Given the description of an element on the screen output the (x, y) to click on. 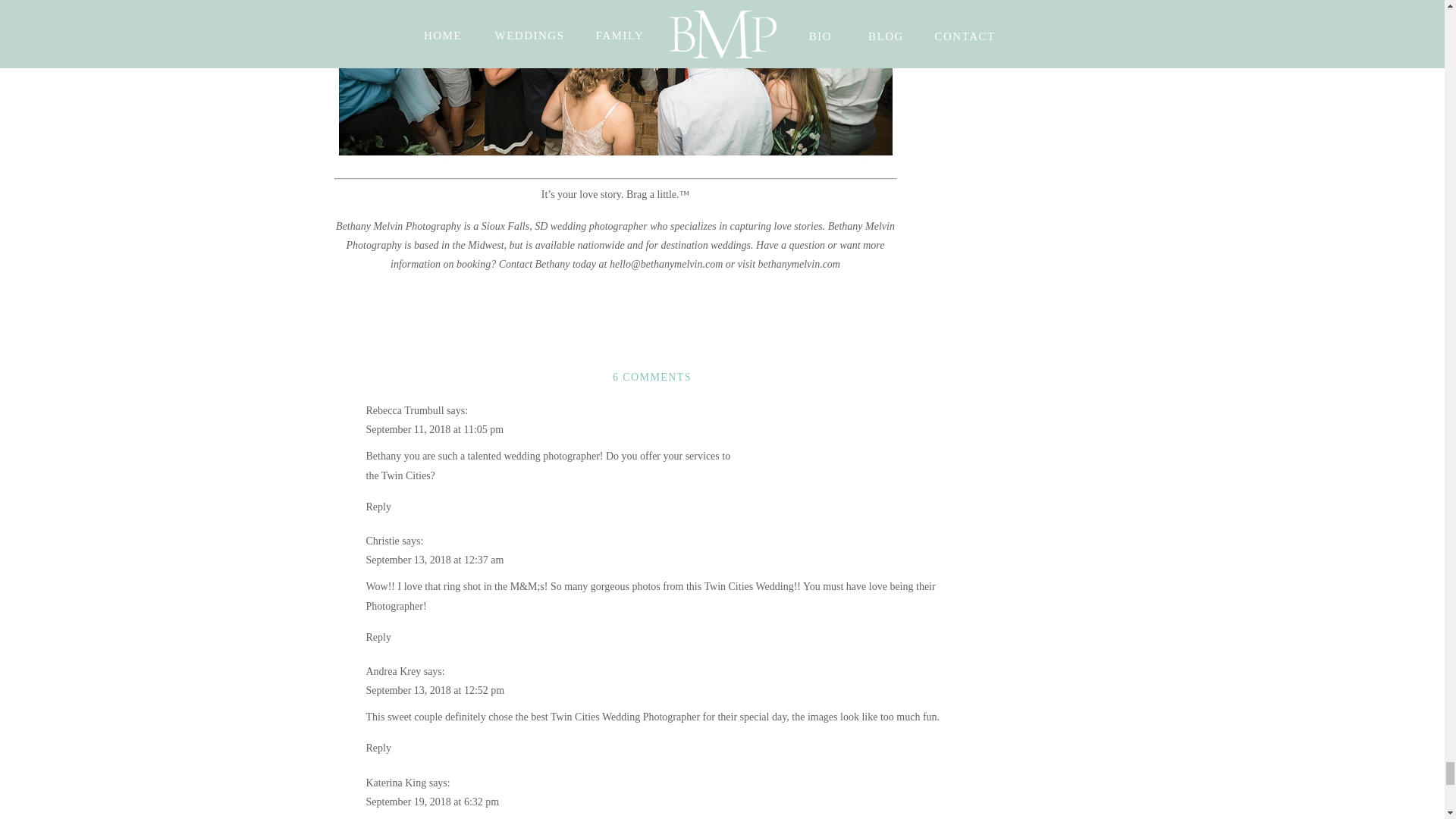
September 11, 2018 at 11:05 pm (434, 429)
Reply (377, 747)
Reply (377, 506)
September 13, 2018 at 12:37 am (434, 559)
Reply (377, 636)
September 19, 2018 at 6:32 pm (432, 801)
September 13, 2018 at 12:52 pm (434, 690)
